Given the description of an element on the screen output the (x, y) to click on. 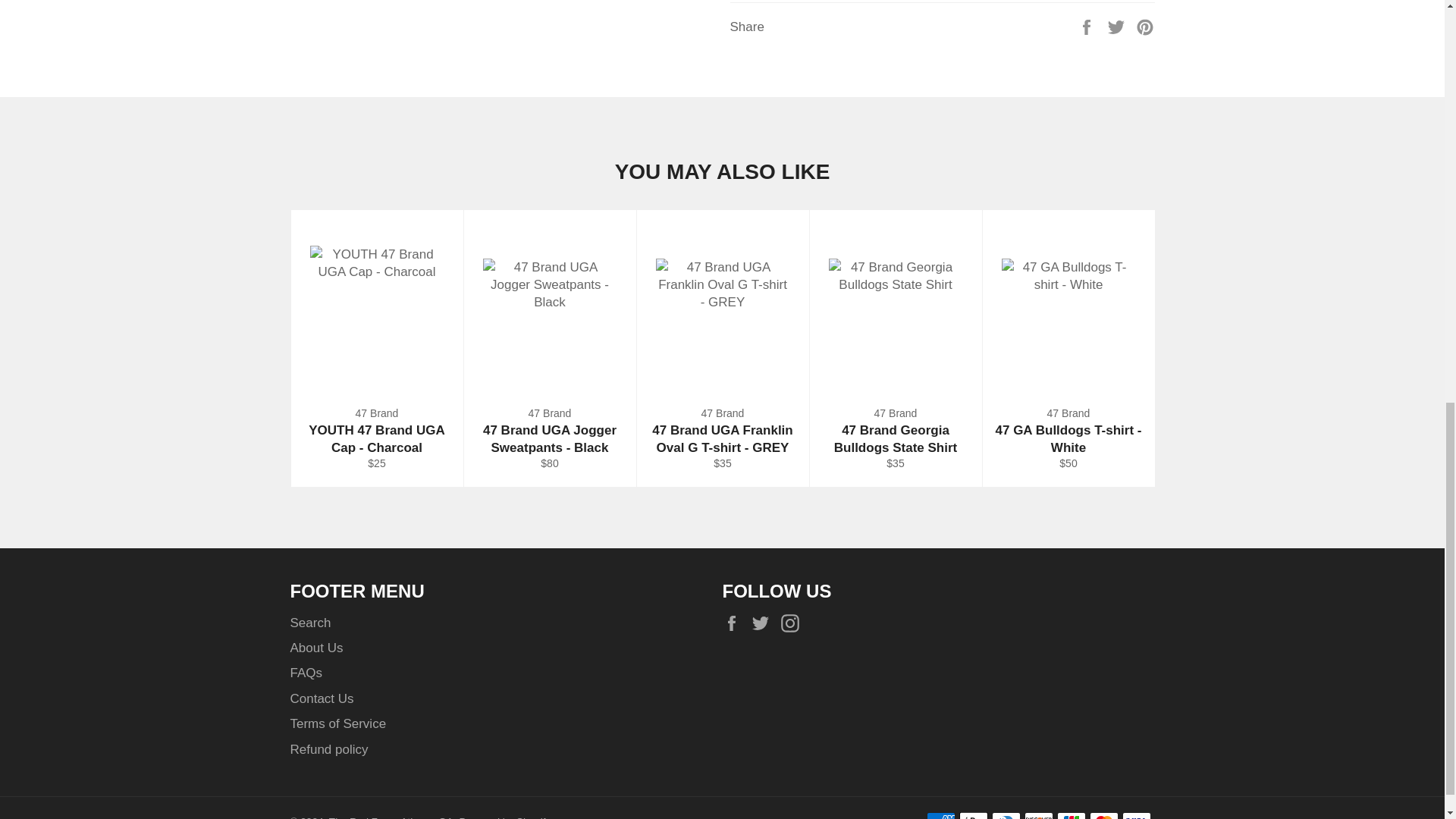
Pin on Pinterest (1144, 26)
The Red Zone- Athens, GA on Instagram (793, 623)
Share on Facebook (1088, 26)
Tweet on Twitter (1117, 26)
The Red Zone- Athens, GA on Facebook (735, 623)
The Red Zone- Athens, GA on Twitter (764, 623)
